Given the description of an element on the screen output the (x, y) to click on. 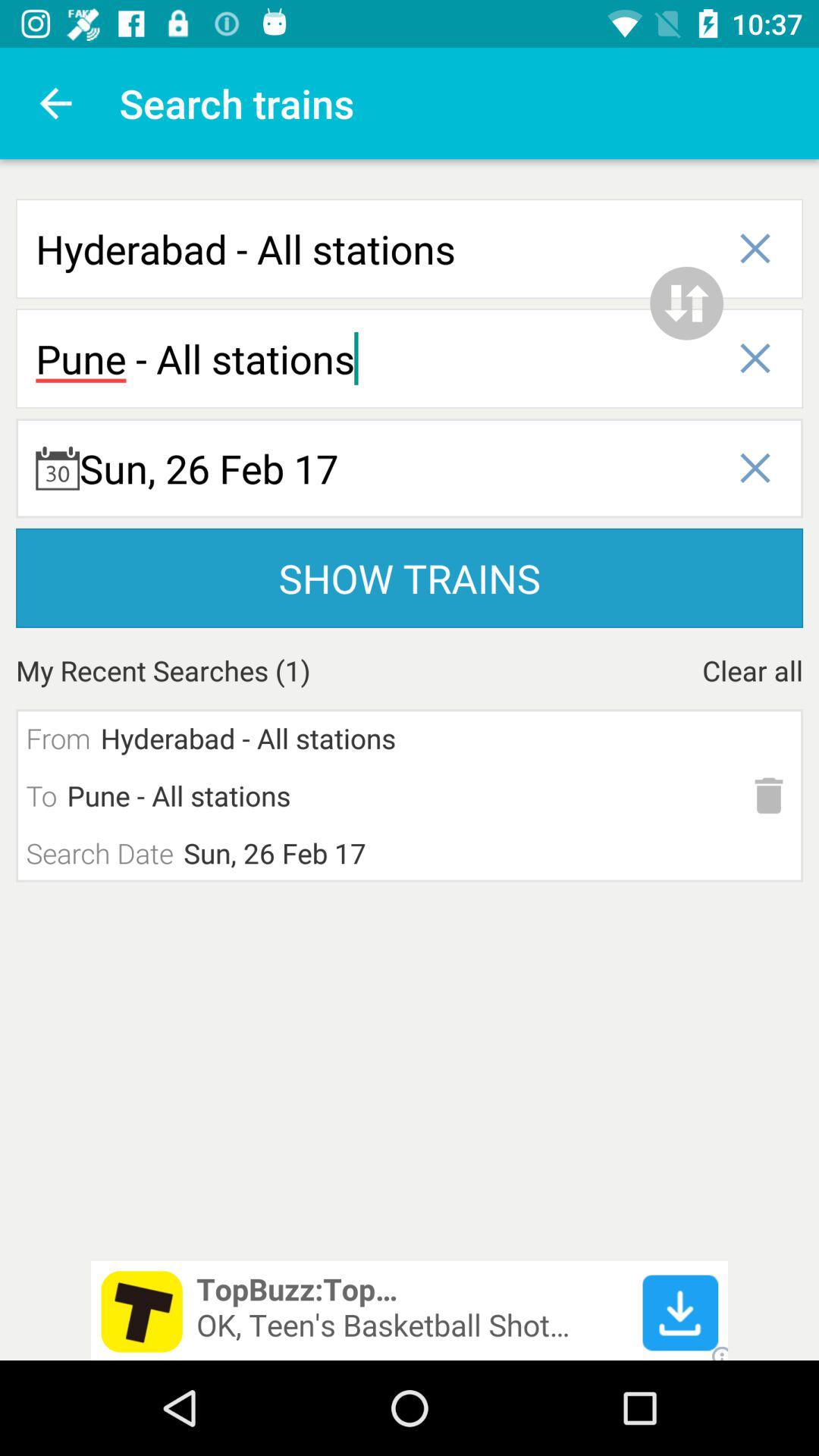
discard recent searches (768, 795)
